Given the description of an element on the screen output the (x, y) to click on. 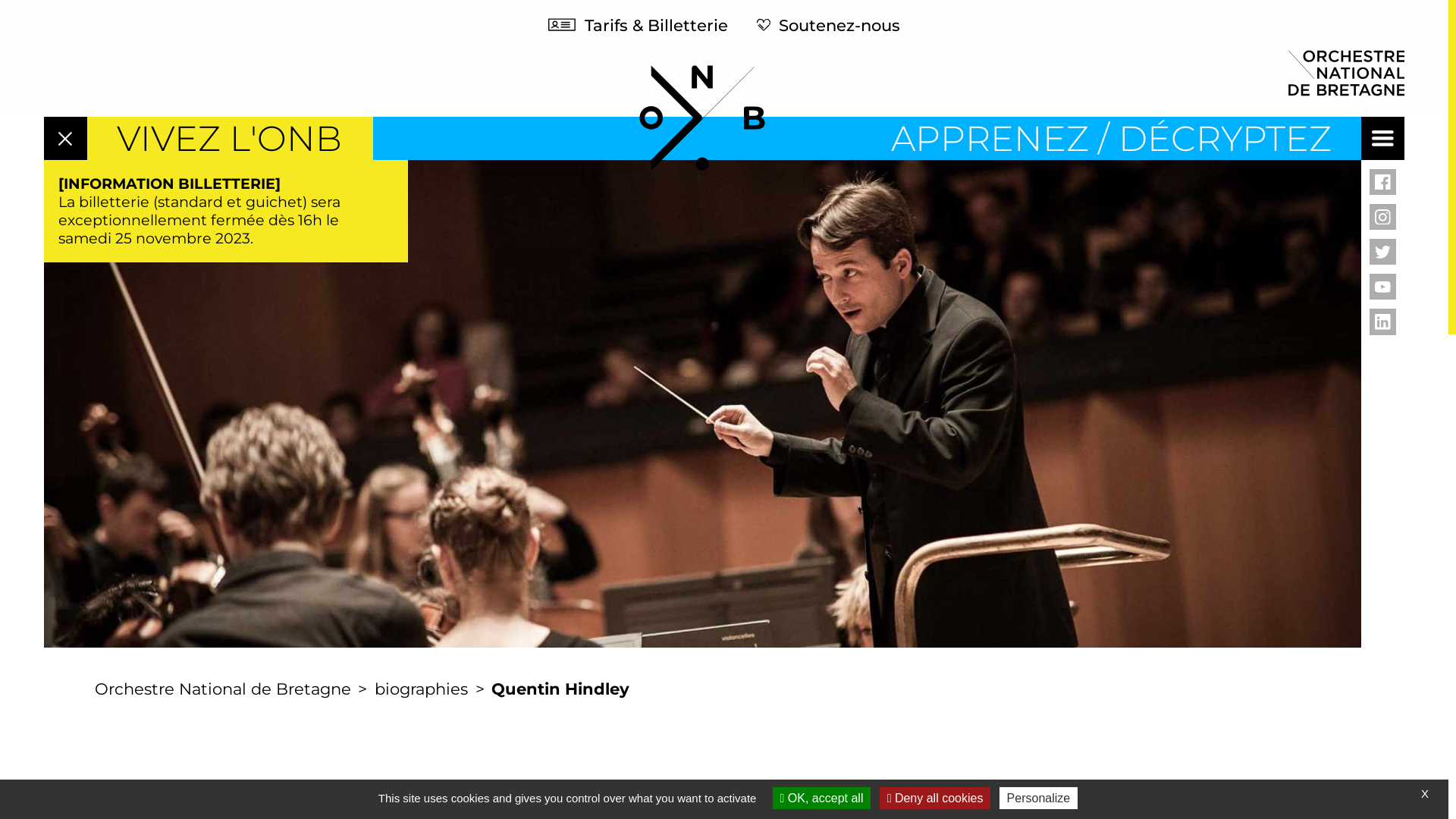
Personalize Element type: text (1038, 798)
Tarifs & Billetterie Element type: text (637, 24)
Soutenez-nous Element type: text (828, 24)
biographies Element type: text (420, 688)
Quentin Hindley Element type: text (560, 688)
Orchestre National de Bretagne Element type: text (222, 688)
VIVEZ L'ONB Element type: text (229, 138)
Deny all cookies Element type: text (935, 798)
OK, accept all Element type: text (821, 798)
